Given the description of an element on the screen output the (x, y) to click on. 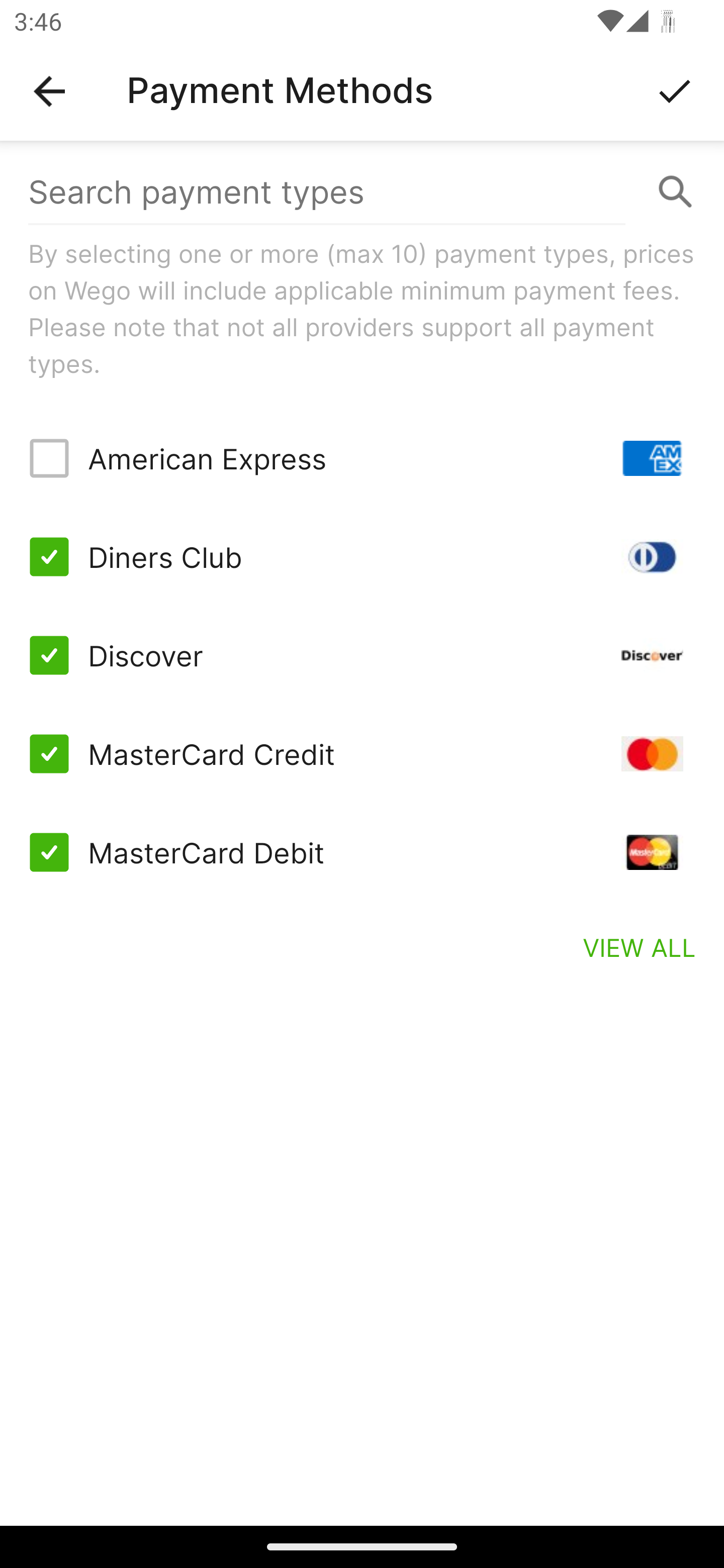
Search payment types  (361, 191)
American Express (362, 458)
Diners Club (362, 557)
Discover (362, 655)
MasterCard Credit (362, 753)
MasterCard Debit (362, 851)
VIEW ALL (639, 946)
